Given the description of an element on the screen output the (x, y) to click on. 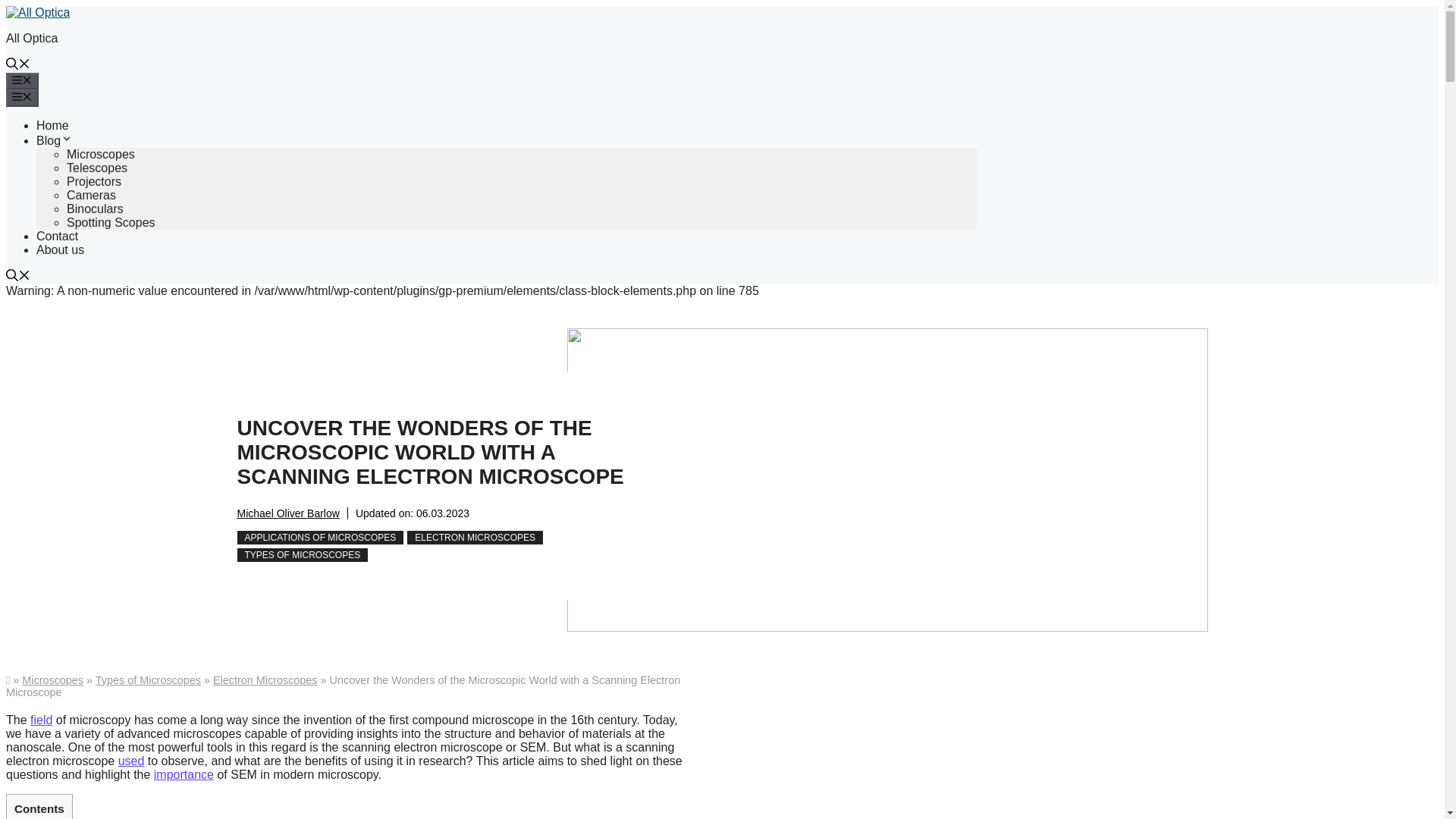
Binoculars (94, 208)
Microscopes (51, 680)
All Optica (31, 38)
TYPES OF MICROSCOPES (301, 554)
Contact (57, 236)
Types of Microscopes (148, 680)
importance (184, 774)
Cameras (91, 195)
Home (52, 124)
field (41, 719)
Spotting Scopes (110, 222)
Telescopes (97, 167)
Projectors (93, 181)
About us (60, 249)
